Given the description of an element on the screen output the (x, y) to click on. 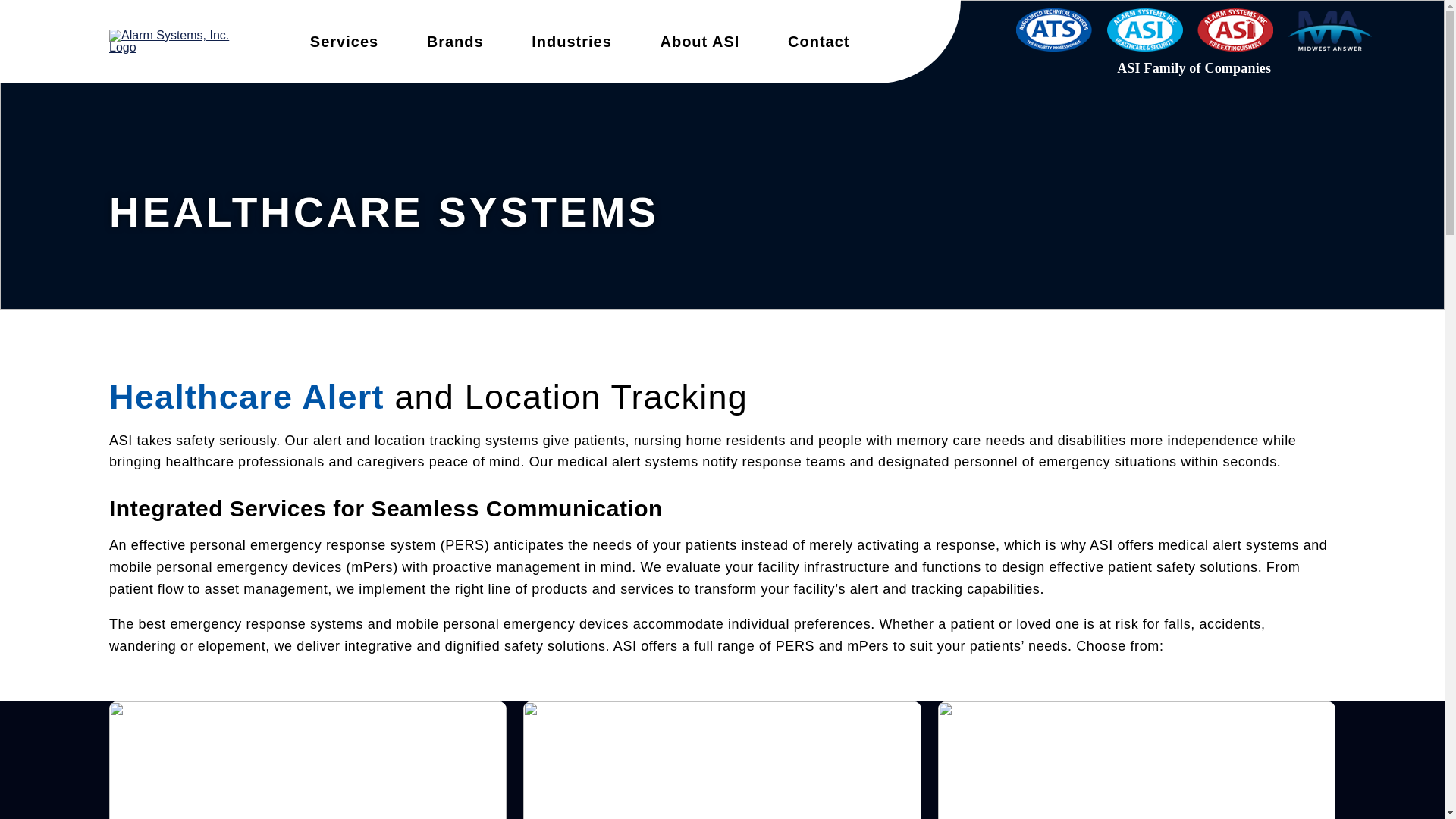
Services (343, 41)
Alarm Systems, Inc. The Security Professionals (184, 41)
Brands (455, 41)
Our Commercial Services (343, 41)
Industries (572, 41)
About ASI (699, 41)
